Given the description of an element on the screen output the (x, y) to click on. 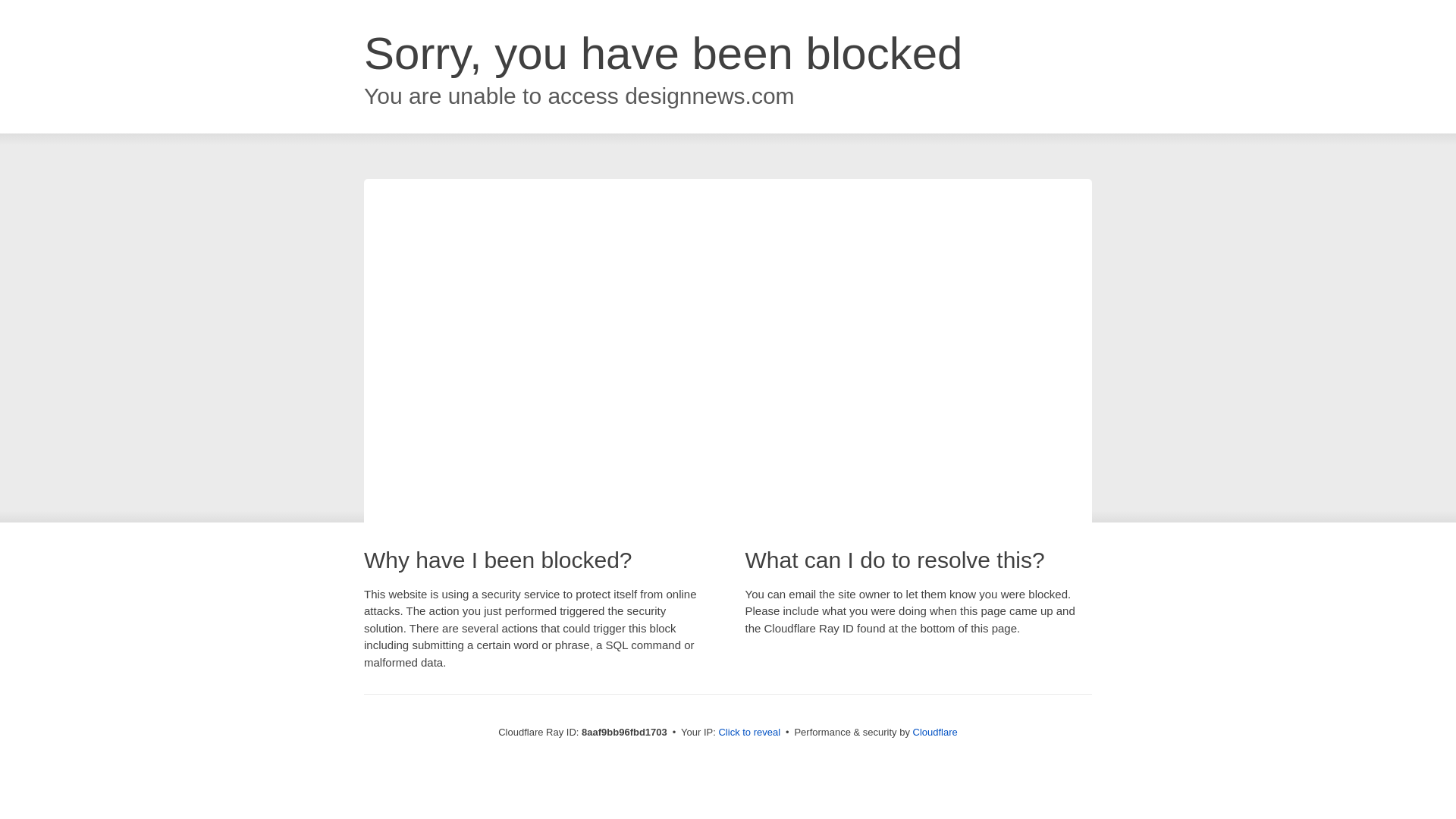
Click to reveal (748, 732)
Cloudflare (935, 731)
